Given the description of an element on the screen output the (x, y) to click on. 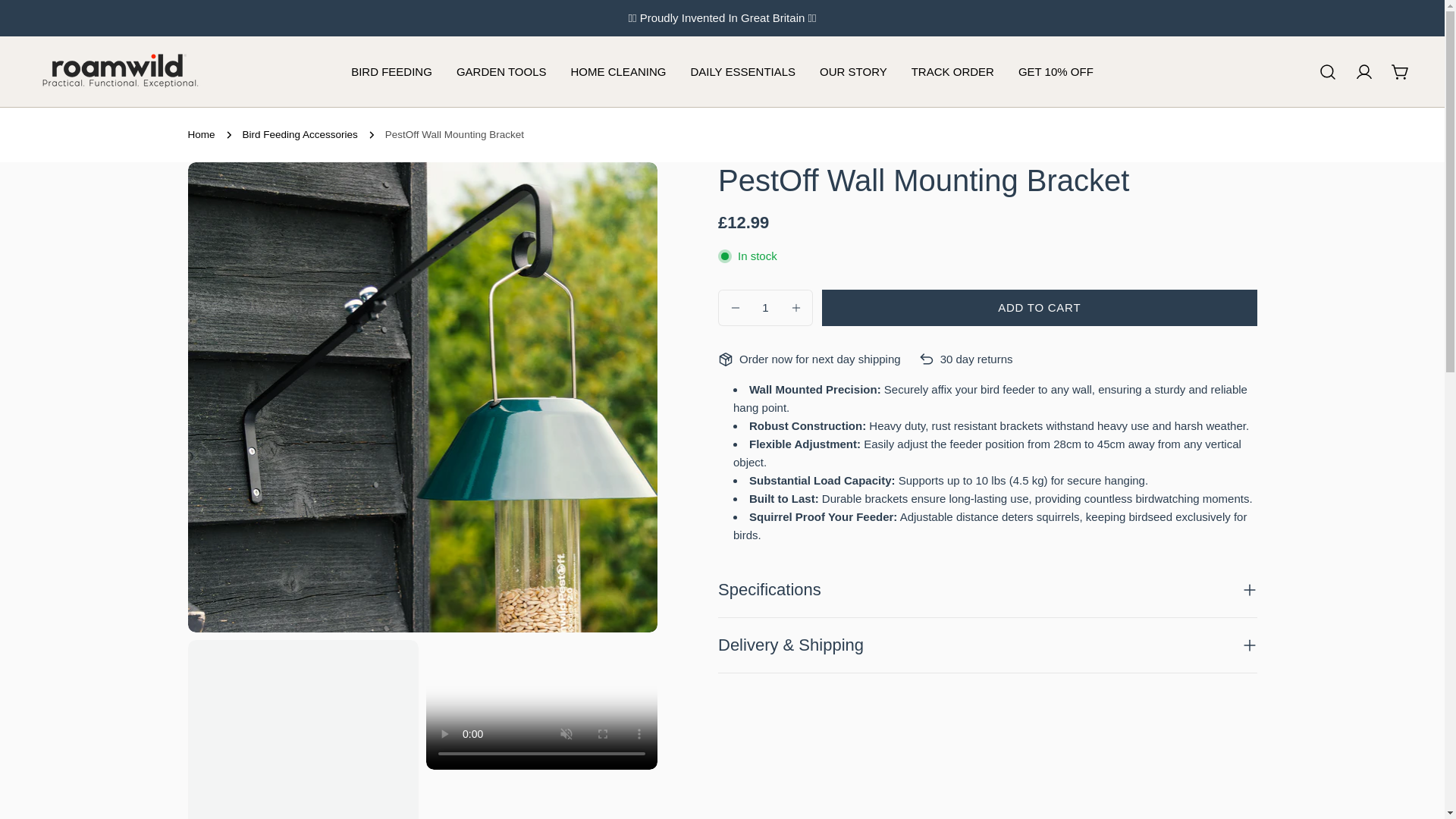
Bird Feeding Accessories (300, 135)
Log in (1363, 71)
INCREASE QUANTITY FOR PESTOFF WALL MOUNTING BRACKET (795, 307)
Home (201, 135)
ADD TO CART (1039, 307)
BIRD FEEDING (391, 71)
OUR STORY (853, 71)
TRACK ORDER (952, 71)
GARDEN TOOLS (501, 71)
